Given the description of an element on the screen output the (x, y) to click on. 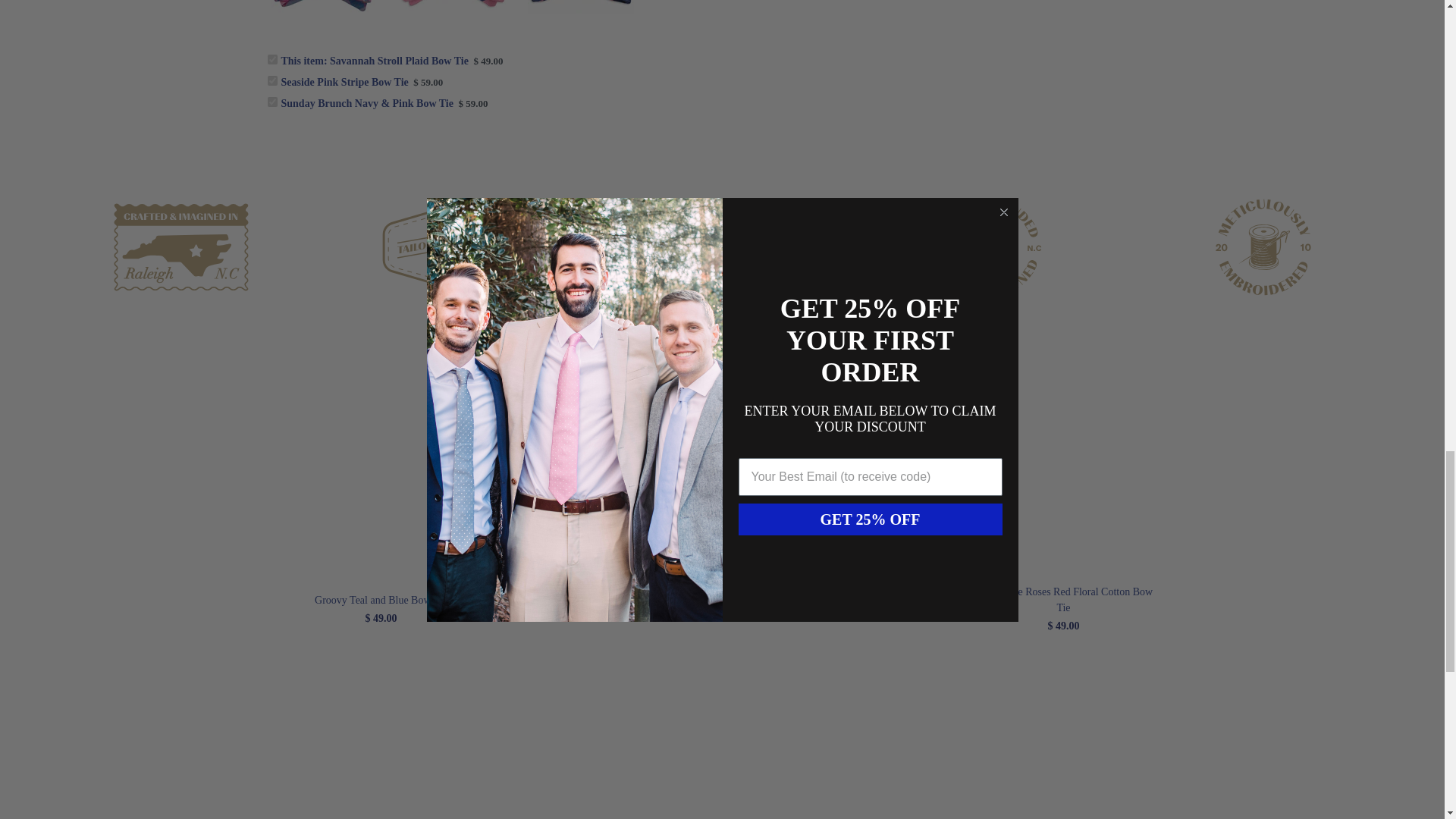
on (271, 59)
on (271, 80)
on (271, 102)
